Given the description of an element on the screen output the (x, y) to click on. 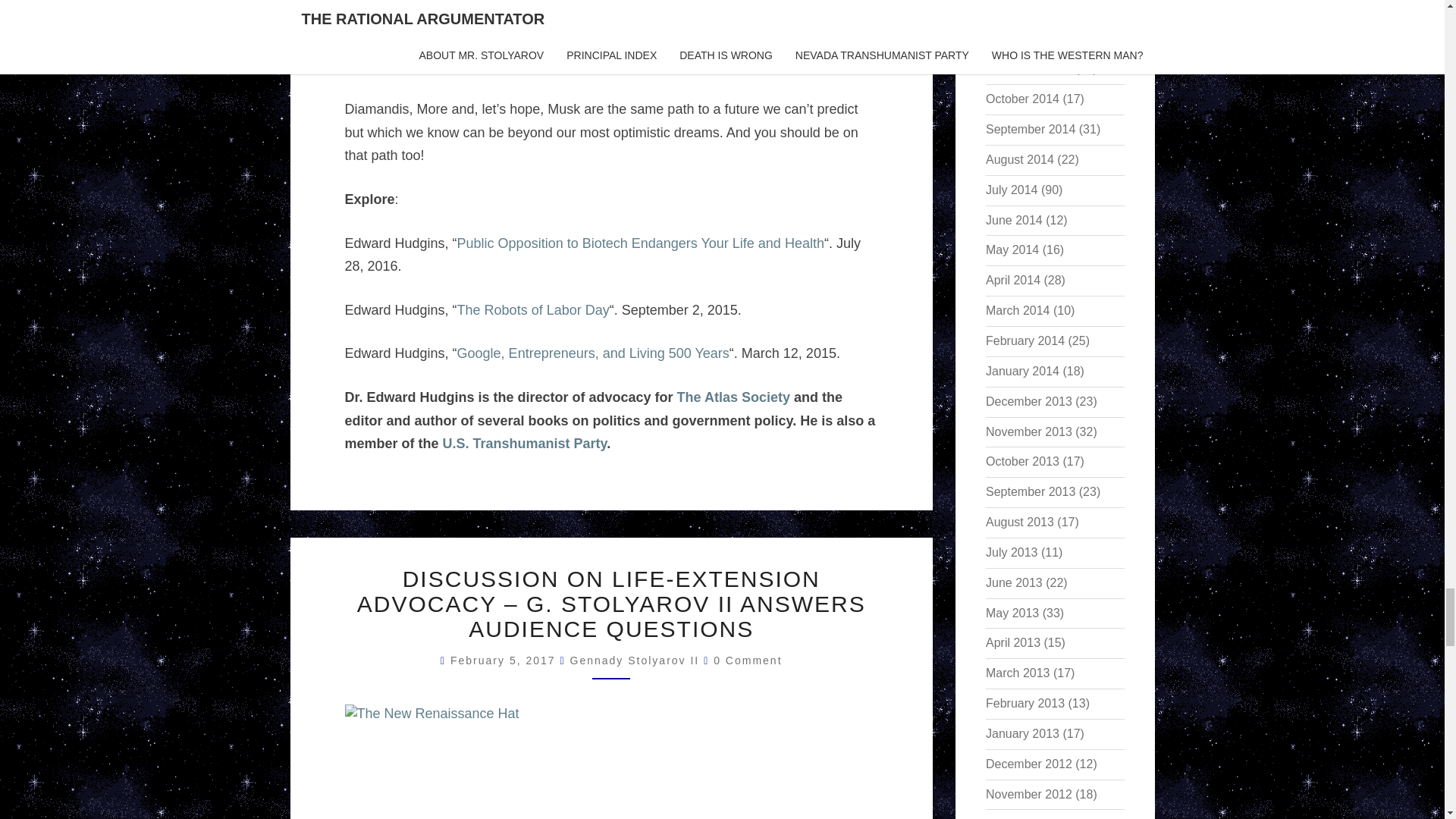
Google, Entrepreneurs, and Living 500 Years (593, 353)
11:01 PM (504, 660)
Public Opposition to Biotech Endangers Your Life and Health (640, 242)
View all posts by Gennady Stolyarov II (635, 660)
The Robots of Labor Day (533, 309)
